Given the description of an element on the screen output the (x, y) to click on. 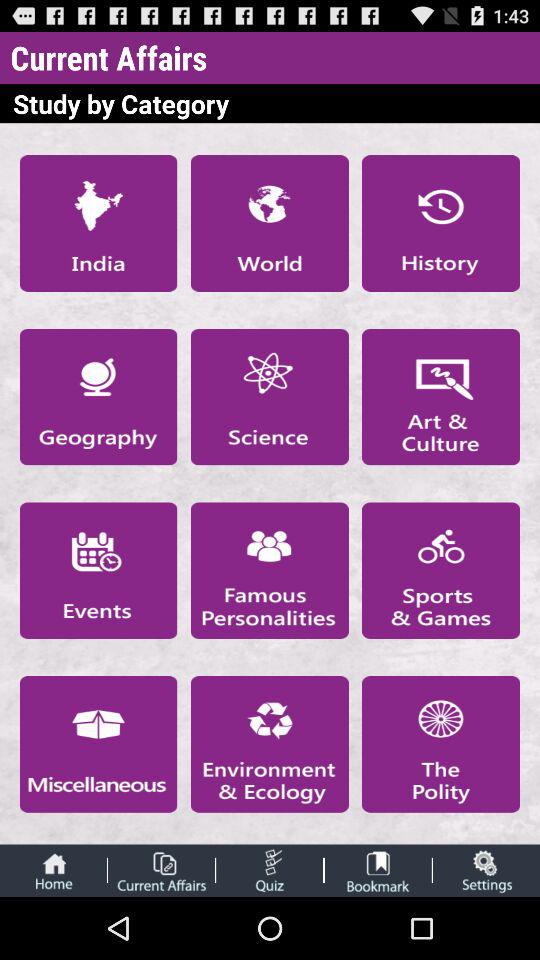
select science category (269, 396)
